Given the description of an element on the screen output the (x, y) to click on. 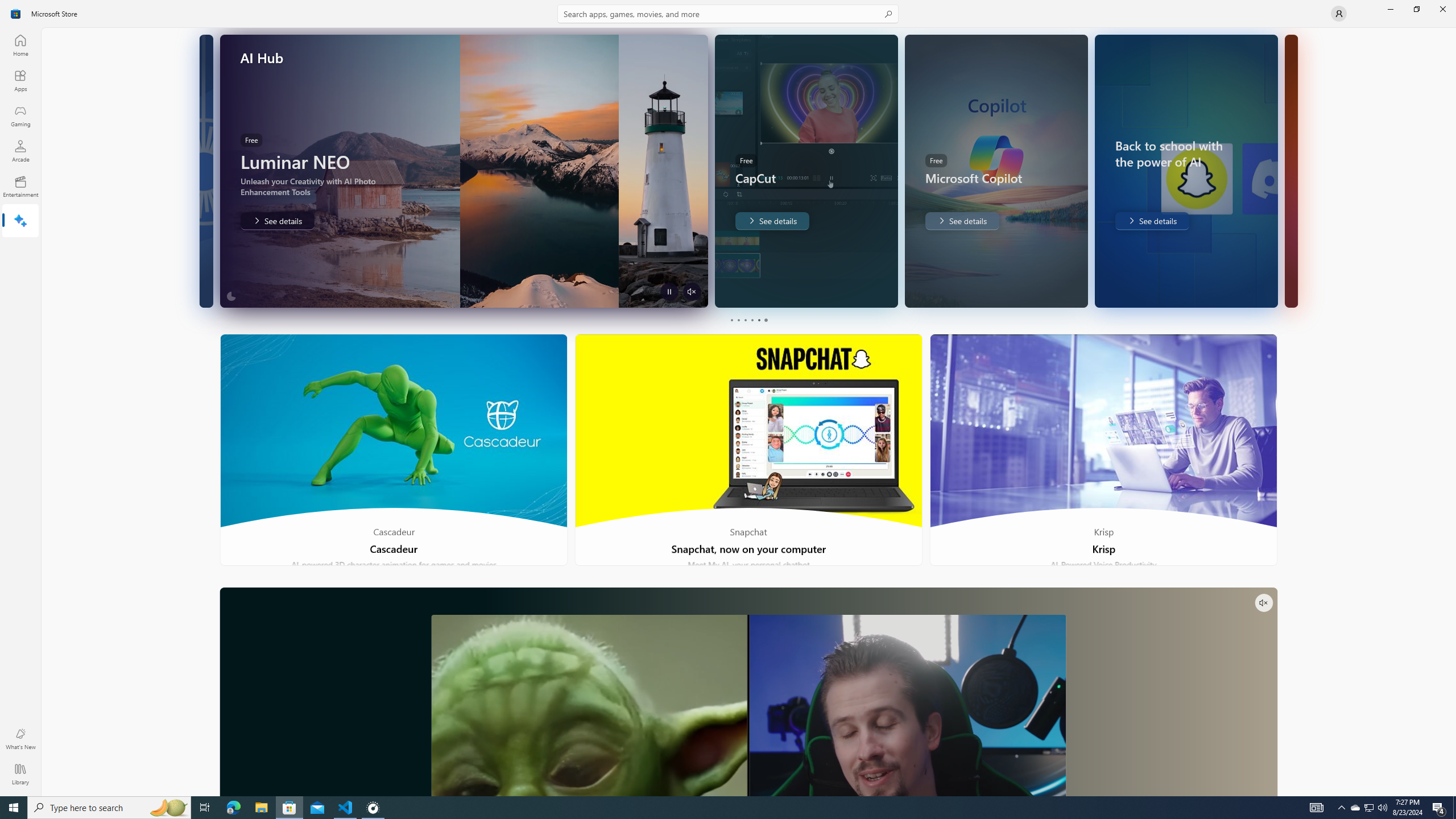
AI Hub (20, 221)
Library (20, 773)
What's New (20, 738)
Pause Trailer (858, 291)
Pager (748, 319)
Page 5 (758, 319)
Cascadeur (393, 449)
AutomationID: Image (1290, 170)
User profile (1338, 13)
Entertainment (20, 185)
Page 1 (731, 319)
Page 6 (764, 319)
AutomationID: NavigationControl (728, 398)
